Given the description of an element on the screen output the (x, y) to click on. 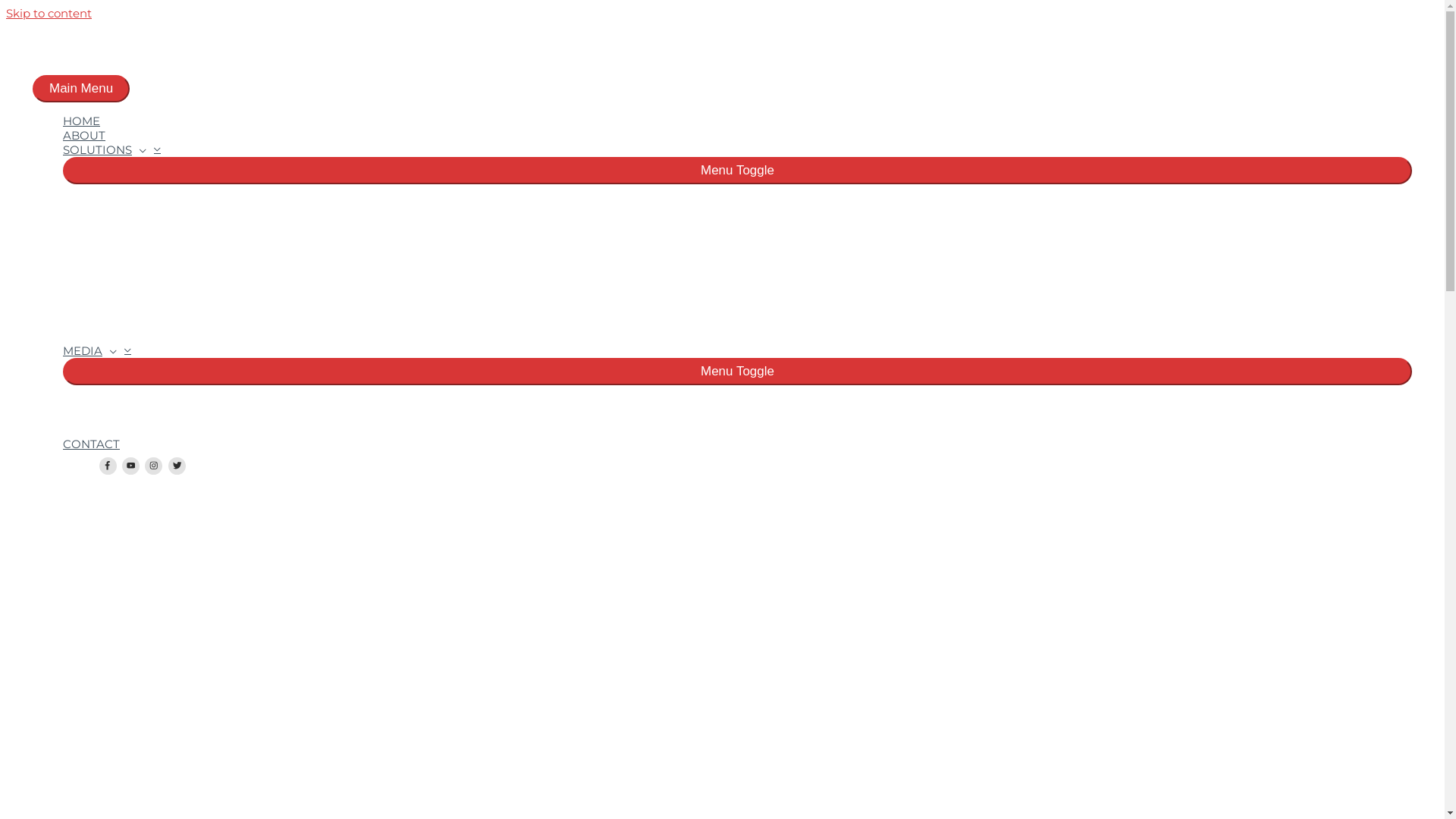
Main Menu Element type: text (80, 88)
Menu Toggle Element type: text (737, 371)
HOME Element type: text (737, 120)
CONTACT Element type: text (737, 443)
Menu Toggle Element type: text (737, 170)
ABOUT Element type: text (737, 135)
Skip to content Element type: text (48, 13)
MEDIA Element type: text (737, 350)
SOLUTIONS Element type: text (737, 149)
